Given the description of an element on the screen output the (x, y) to click on. 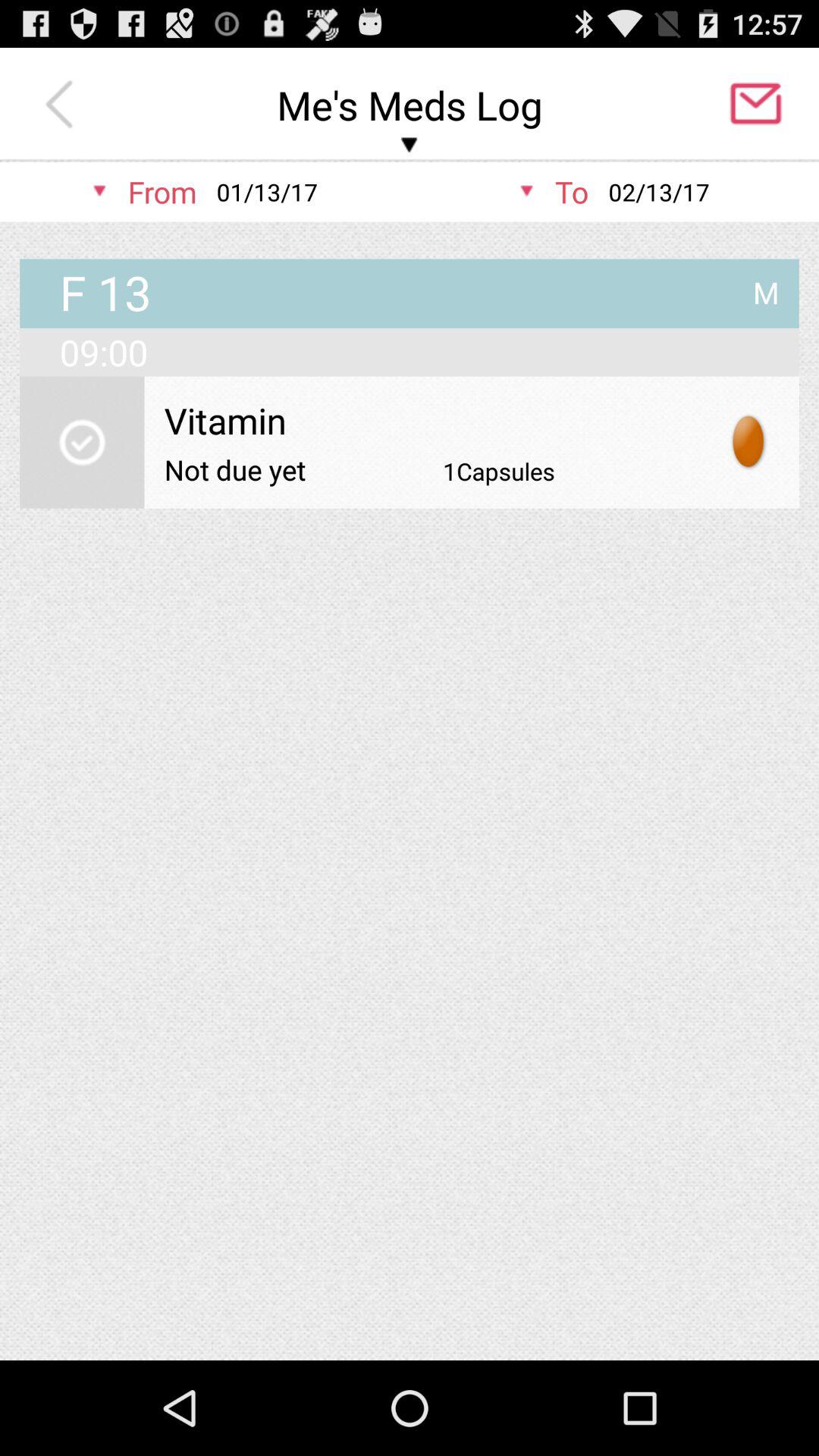
launch item below 09:00 app (749, 442)
